Given the description of an element on the screen output the (x, y) to click on. 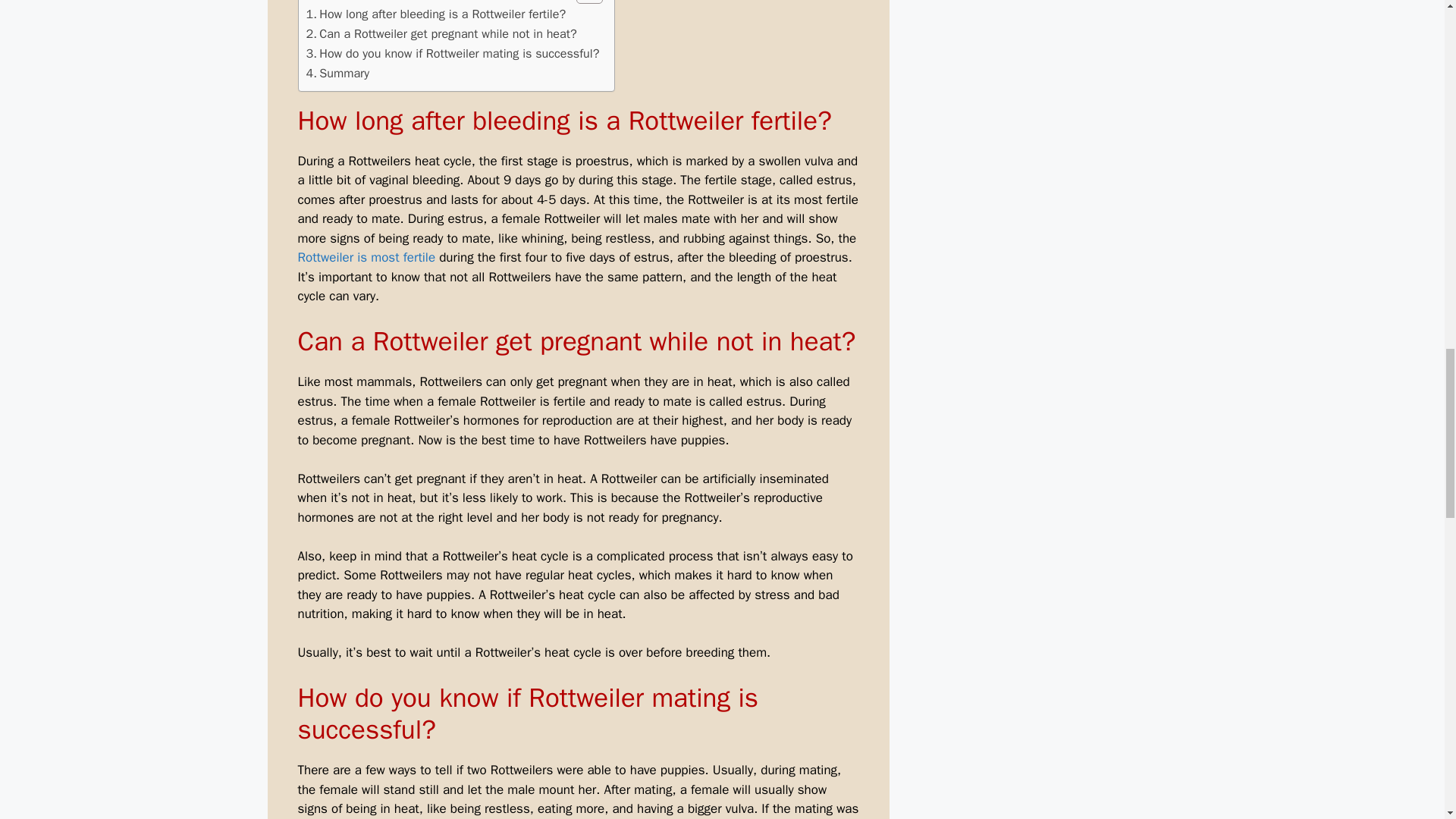
Summary (337, 73)
How do you know if Rottweiler mating is successful? (452, 53)
Summary (337, 73)
How do you know if Rottweiler mating is successful? (452, 53)
How long after bleeding is a Rottweiler fertile? (435, 14)
How long after bleeding is a Rottweiler fertile? (435, 14)
Rottweiler is most fertile (366, 257)
Can a Rottweiler get pregnant while not in heat? (440, 34)
Can a Rottweiler get pregnant while not in heat? (440, 34)
